Given the description of an element on the screen output the (x, y) to click on. 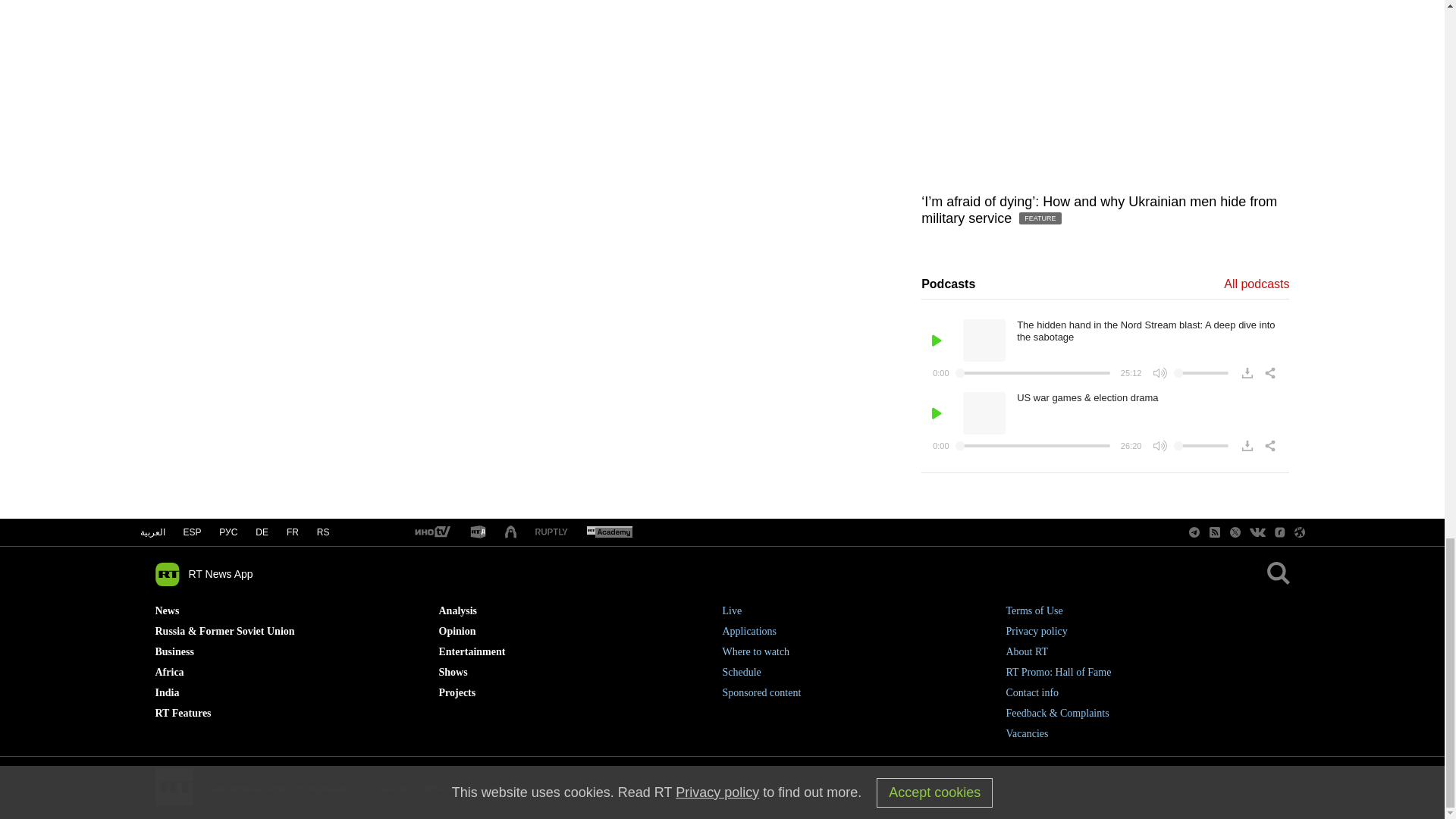
RT  (431, 532)
RT  (478, 532)
RT  (551, 532)
RT  (608, 532)
